Given the description of an element on the screen output the (x, y) to click on. 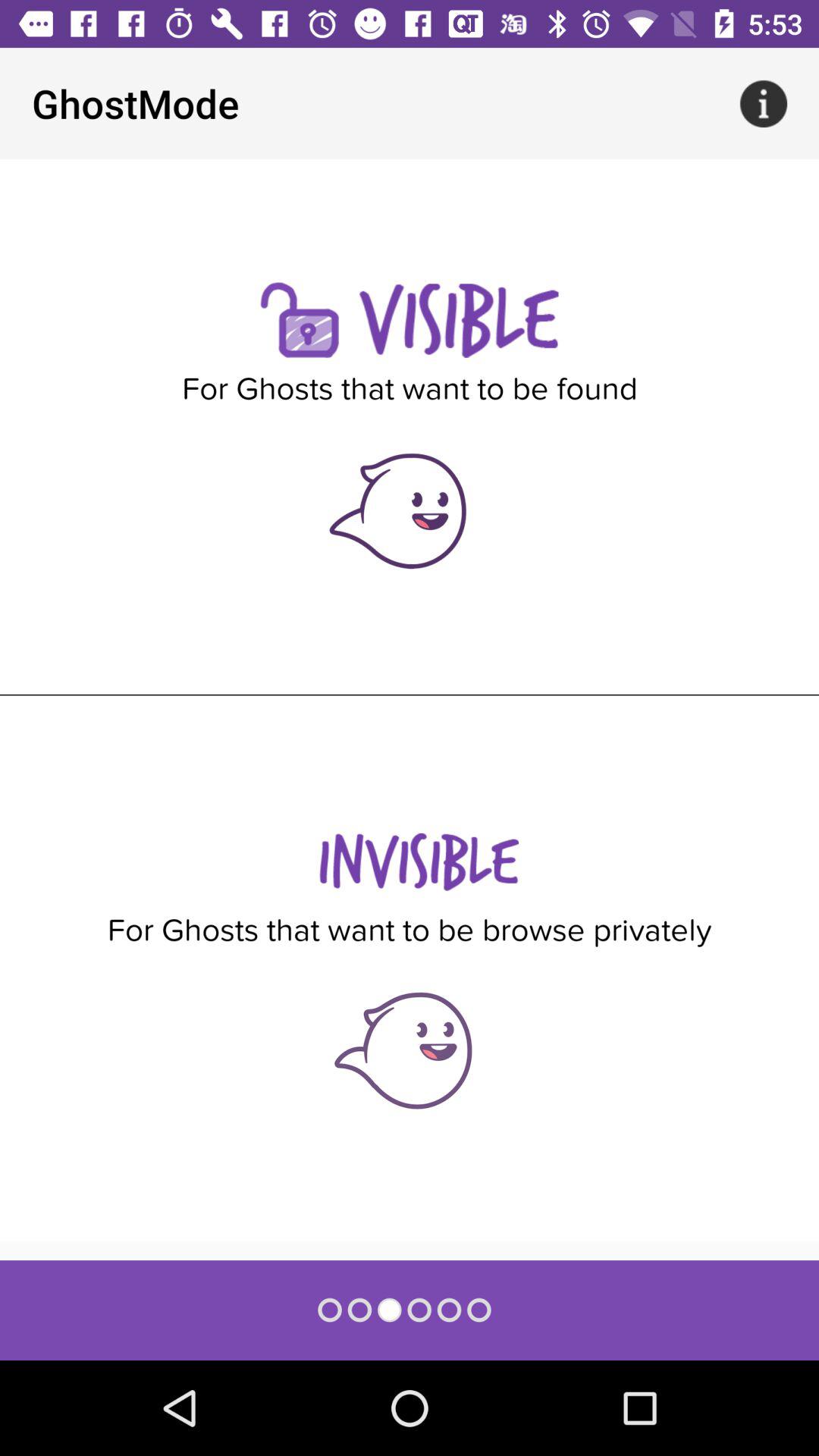
choose the icon to the right of ghostmode (763, 103)
